Given the description of an element on the screen output the (x, y) to click on. 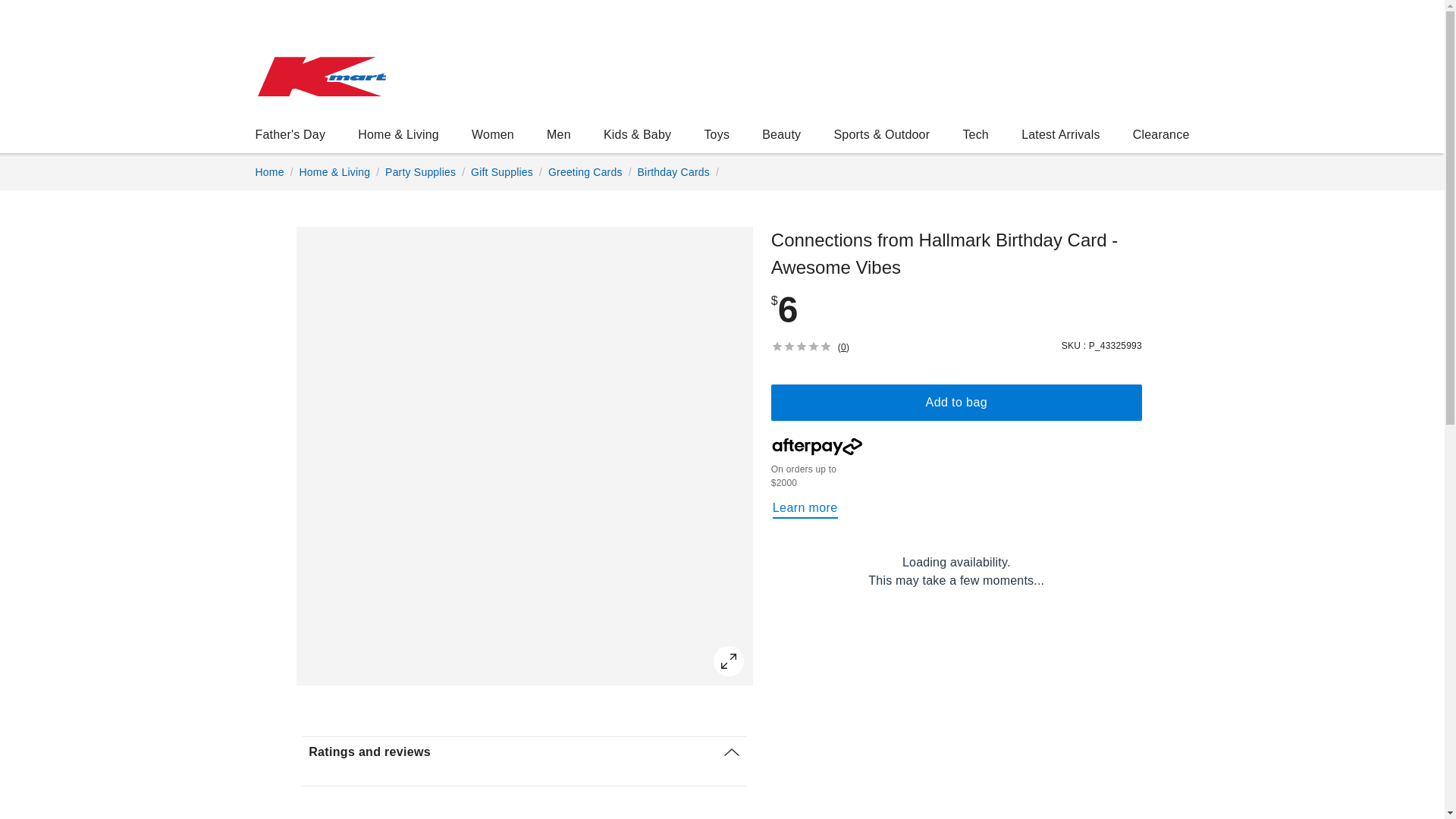
Tech (805, 507)
Home (975, 133)
Father's Day (268, 172)
Greeting Cards (289, 133)
Latest Arrivals (585, 172)
Men (1060, 133)
Clearance (558, 133)
Beauty (1160, 133)
Birthday Cards (780, 133)
